Given the description of an element on the screen output the (x, y) to click on. 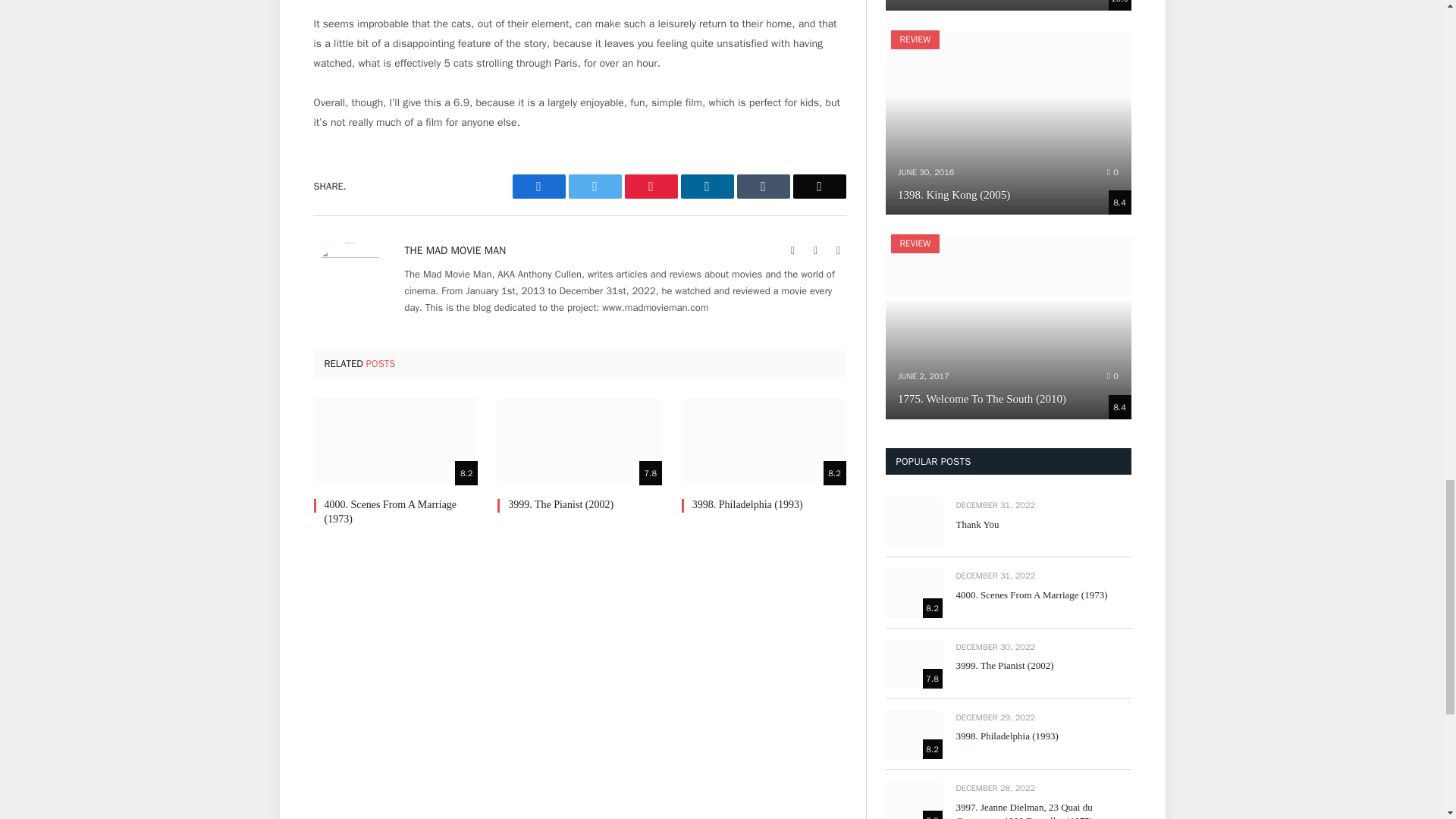
Share on Tumblr (763, 186)
Share on Facebook (539, 186)
Share on Pinterest (651, 186)
Facebook (816, 250)
Share on Twitter (595, 186)
Share on LinkedIn (707, 186)
Website (793, 250)
Posts by The Mad Movie Man (455, 250)
Share via Email (819, 186)
